Given the description of an element on the screen output the (x, y) to click on. 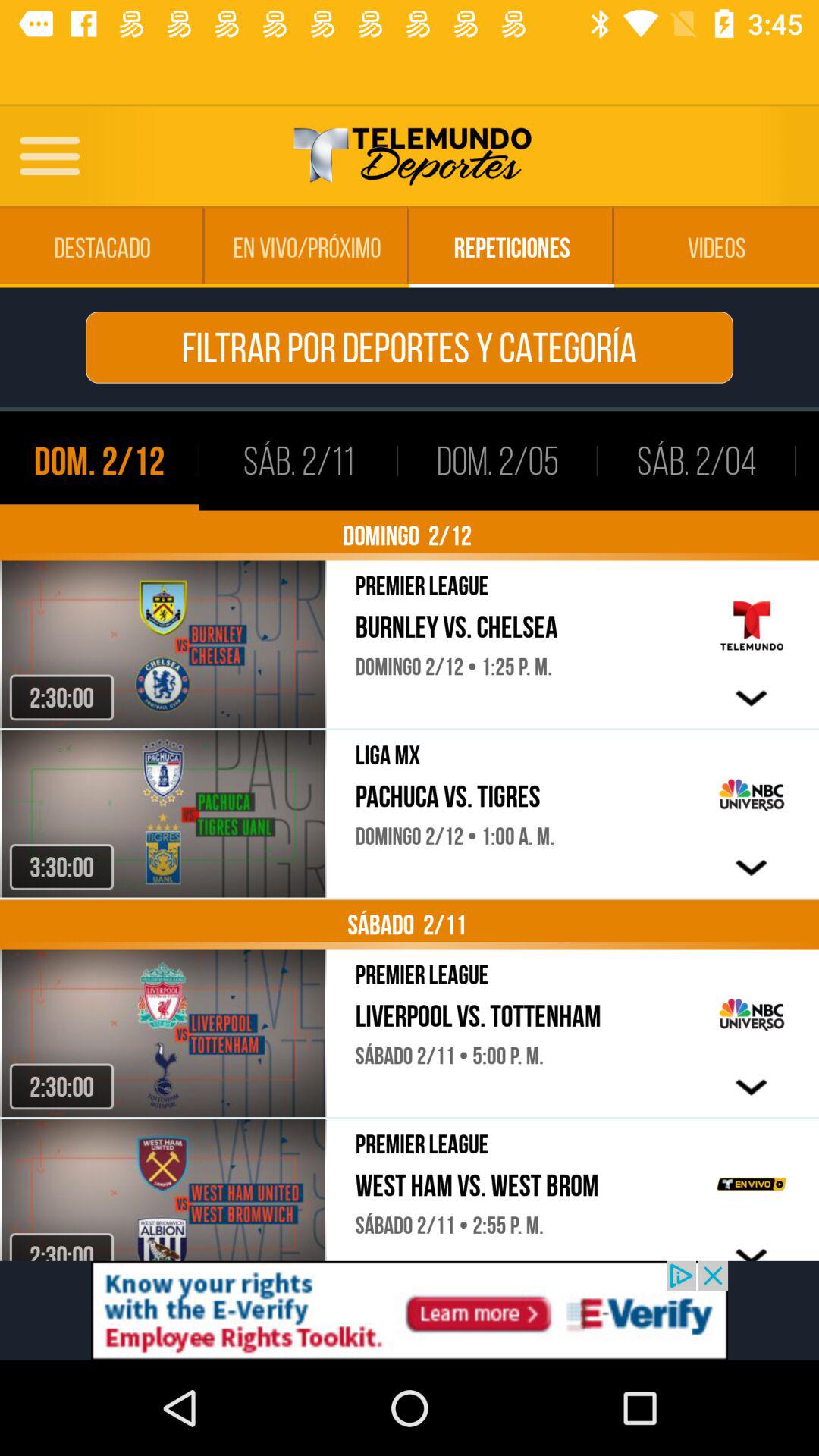
advertisement area (409, 1310)
